Given the description of an element on the screen output the (x, y) to click on. 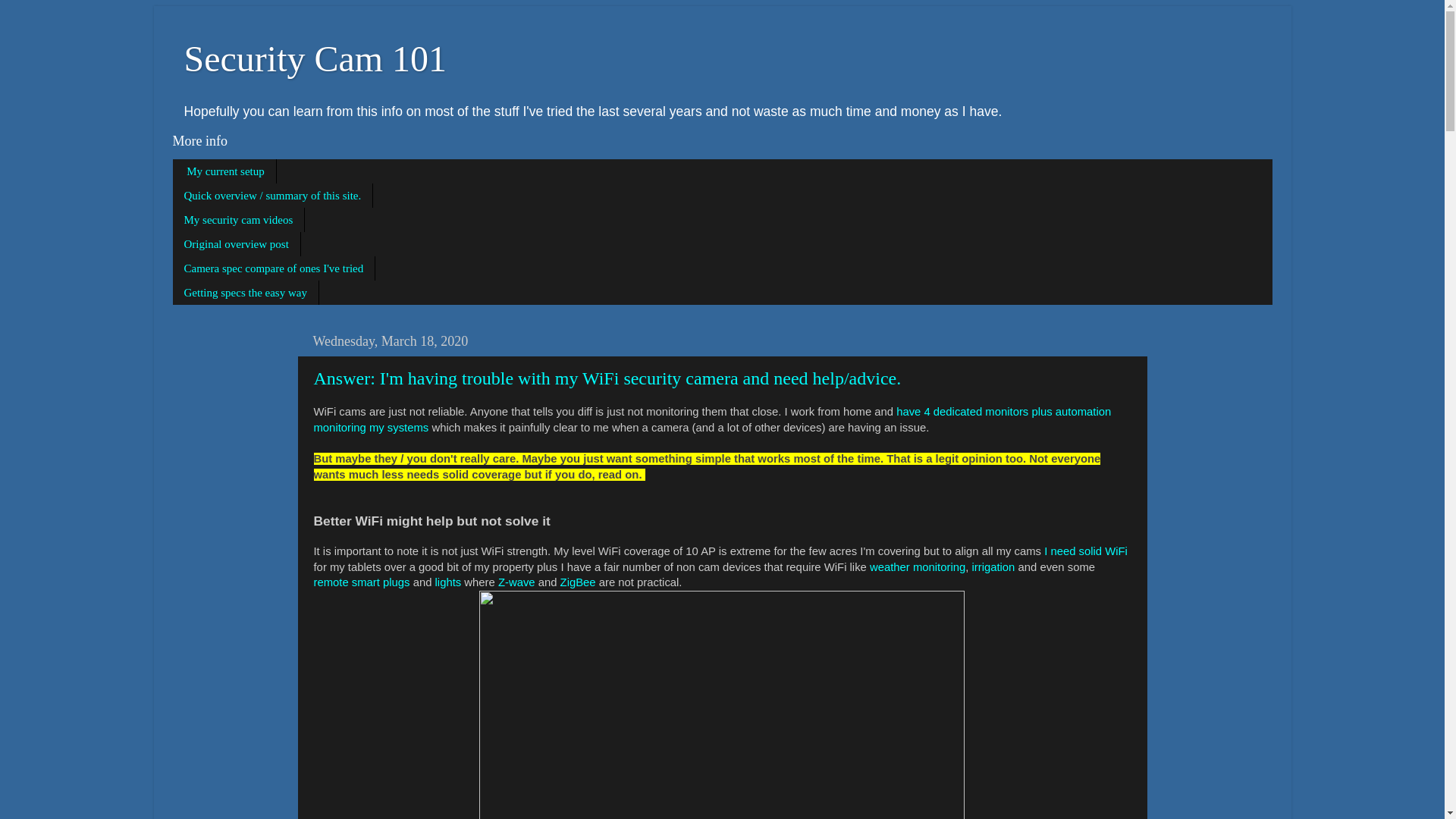
Original overview post (237, 243)
Z-wave (516, 582)
Security Cam 101 (314, 58)
weather monitoring (917, 567)
lights (449, 582)
I need solid WiFi (1084, 551)
My current setup (224, 170)
remote smart plugs (362, 582)
irrigation (994, 567)
ZigBee (579, 582)
My security cam videos (239, 219)
Getting specs the easy way (245, 292)
Camera spec compare of ones I've tried (274, 268)
